Given the description of an element on the screen output the (x, y) to click on. 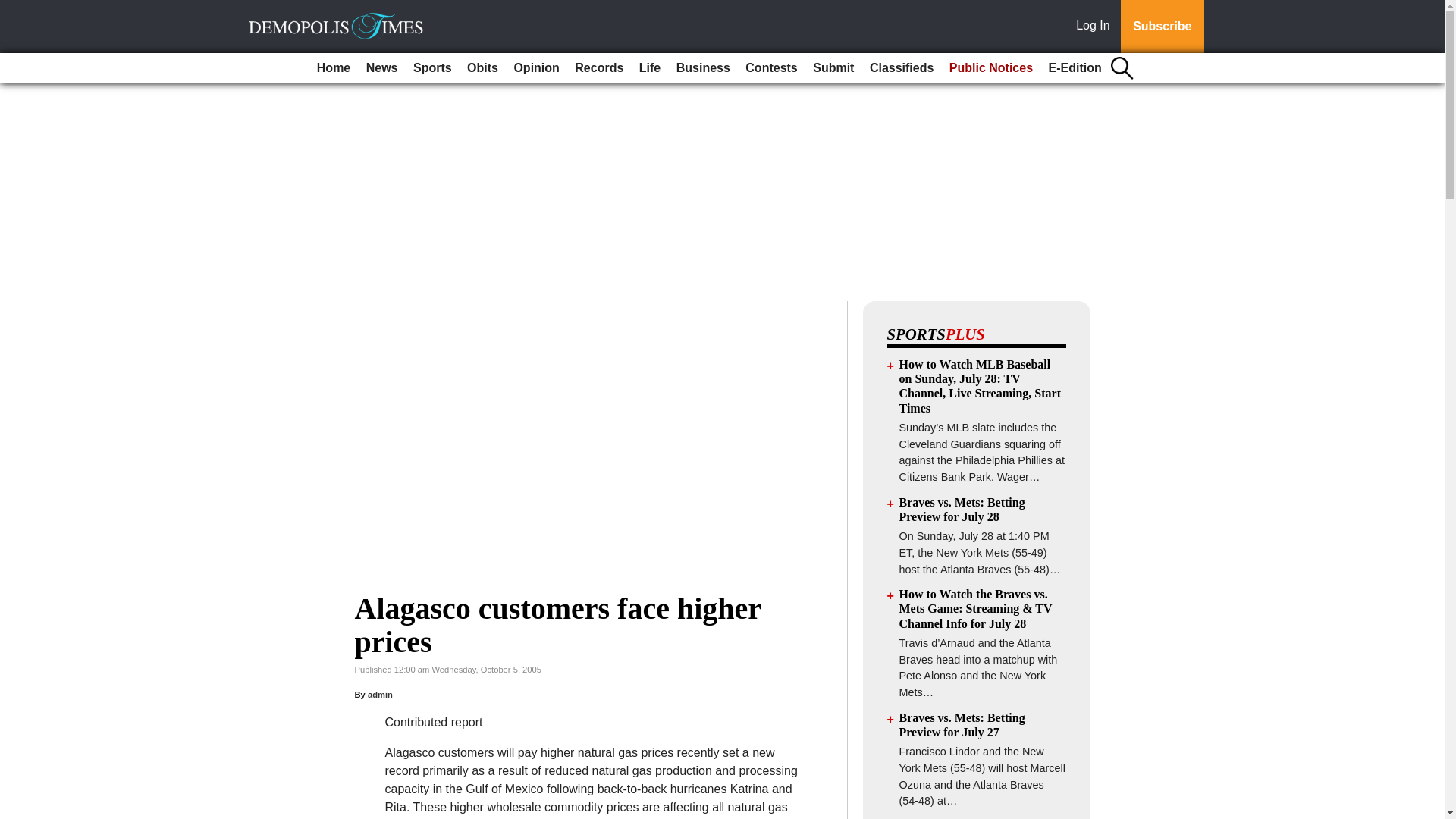
Records (598, 68)
Business (702, 68)
Sports (432, 68)
Go (13, 9)
Subscribe (1162, 26)
Log In (1095, 26)
E-Edition (1075, 68)
Submit (833, 68)
Braves vs. Mets: Betting Preview for July 27 (962, 724)
Contests (771, 68)
Life (649, 68)
Public Notices (991, 68)
admin (380, 694)
News (381, 68)
